Given the description of an element on the screen output the (x, y) to click on. 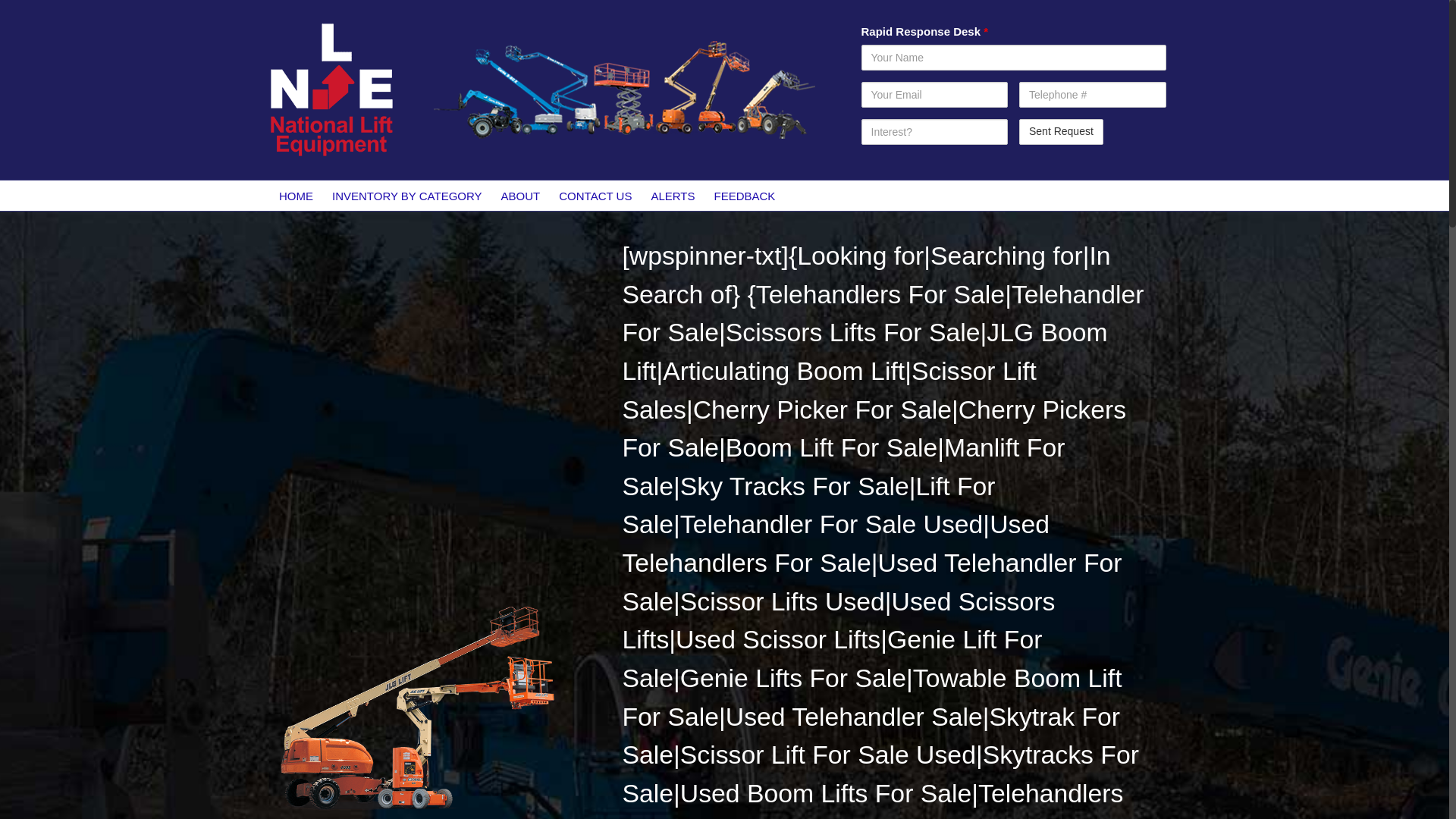
Sent Request (1061, 131)
FEEDBACK (744, 195)
CONTACT US (596, 195)
ABOUT (521, 195)
Used Construction Equipment For Sale in Pennsylvania (414, 707)
INVENTORY BY CATEGORY (407, 195)
HOME (296, 195)
ALERTS (673, 195)
Sent Request (1061, 131)
